Given the description of an element on the screen output the (x, y) to click on. 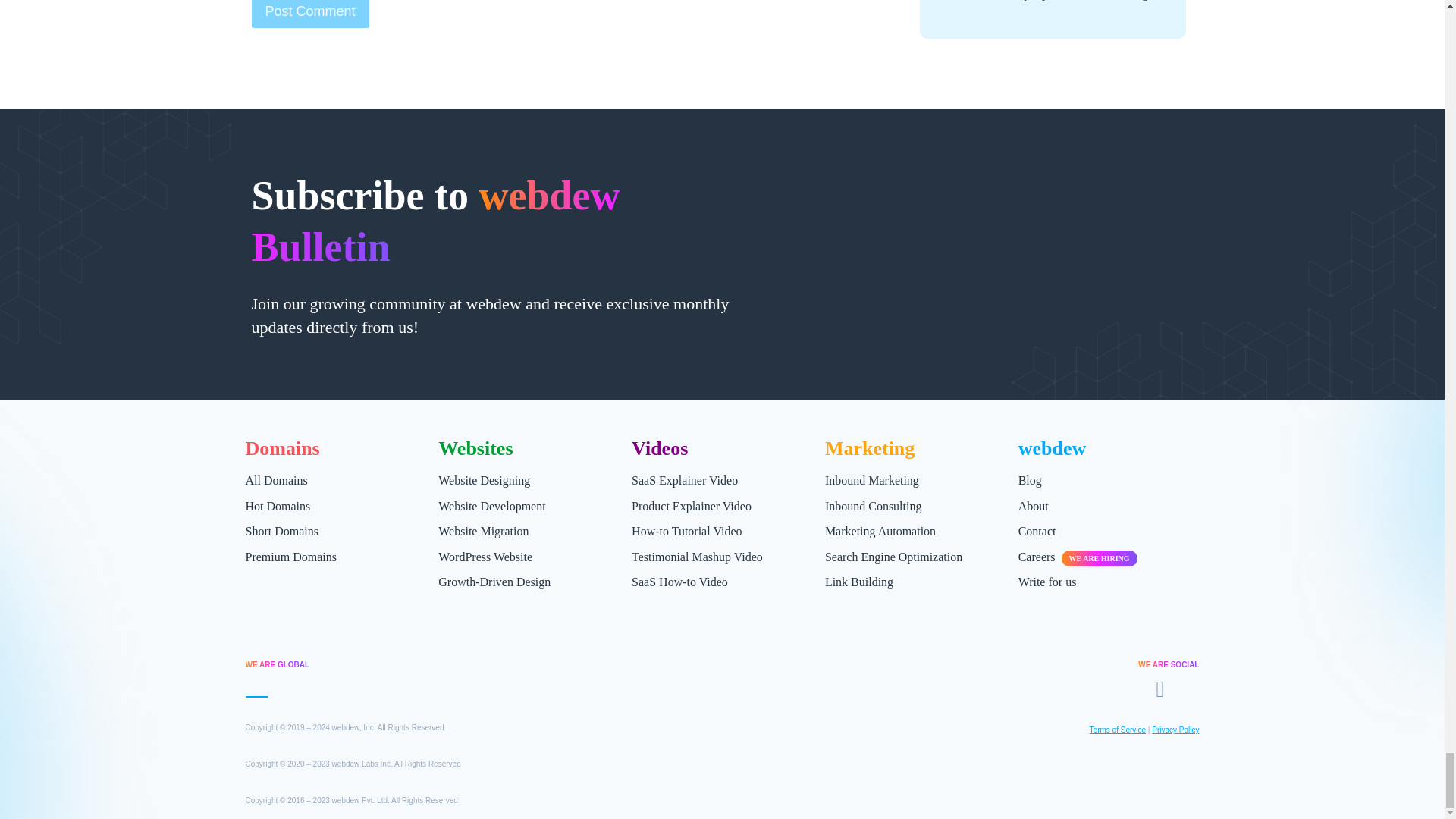
Post Comment (310, 13)
